Given the description of an element on the screen output the (x, y) to click on. 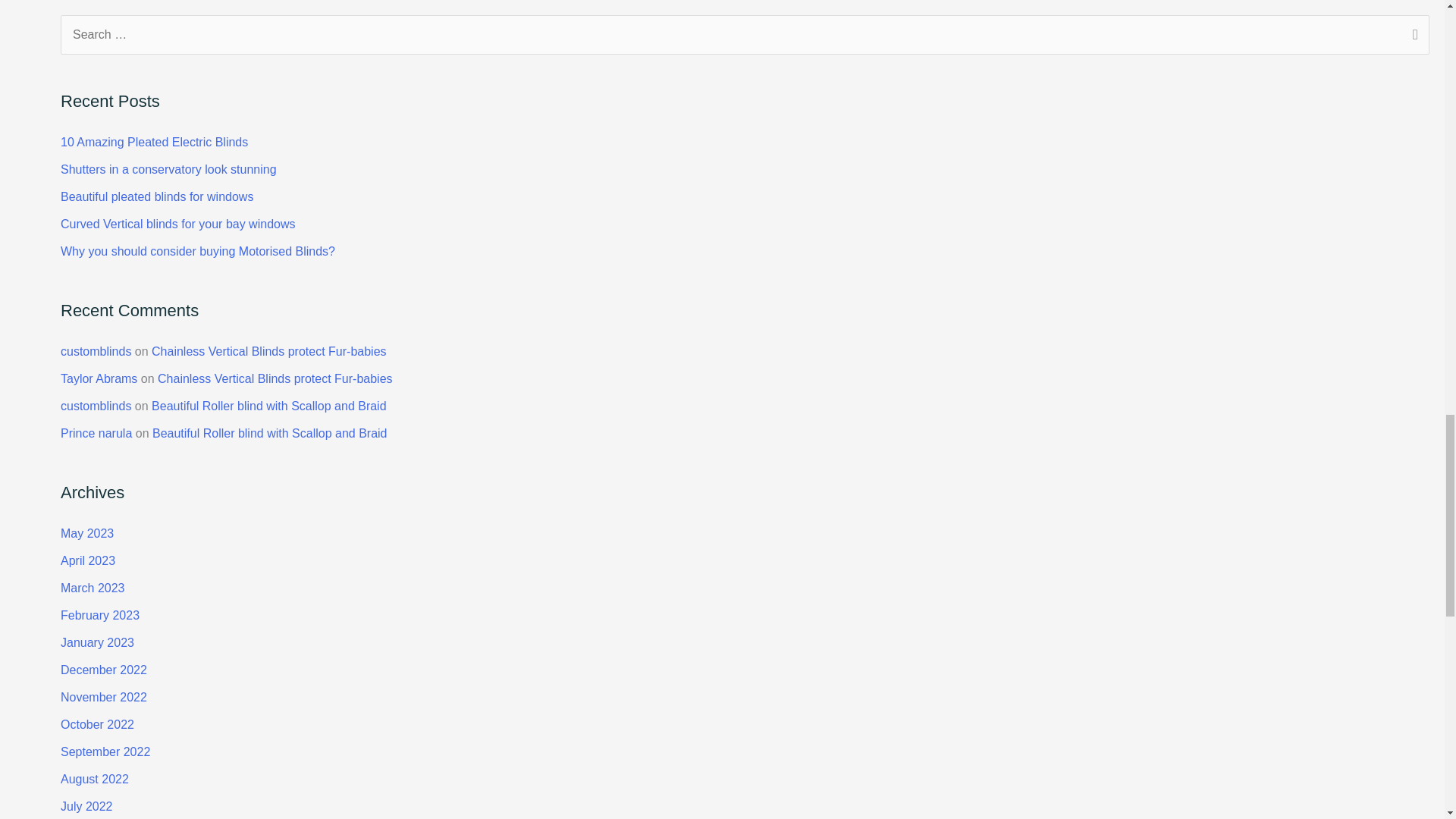
Chainless Vertical Blinds protect Fur-babies (268, 350)
November 2022 (104, 697)
Shutters in a conservatory look stunning (168, 169)
customblinds (96, 405)
Chainless Vertical Blinds protect Fur-babies (274, 378)
January 2023 (97, 642)
Why you should consider buying Motorised Blinds? (197, 250)
May 2023 (87, 533)
Prince narula (96, 432)
Beautiful pleated blinds for windows (157, 196)
